Given the description of an element on the screen output the (x, y) to click on. 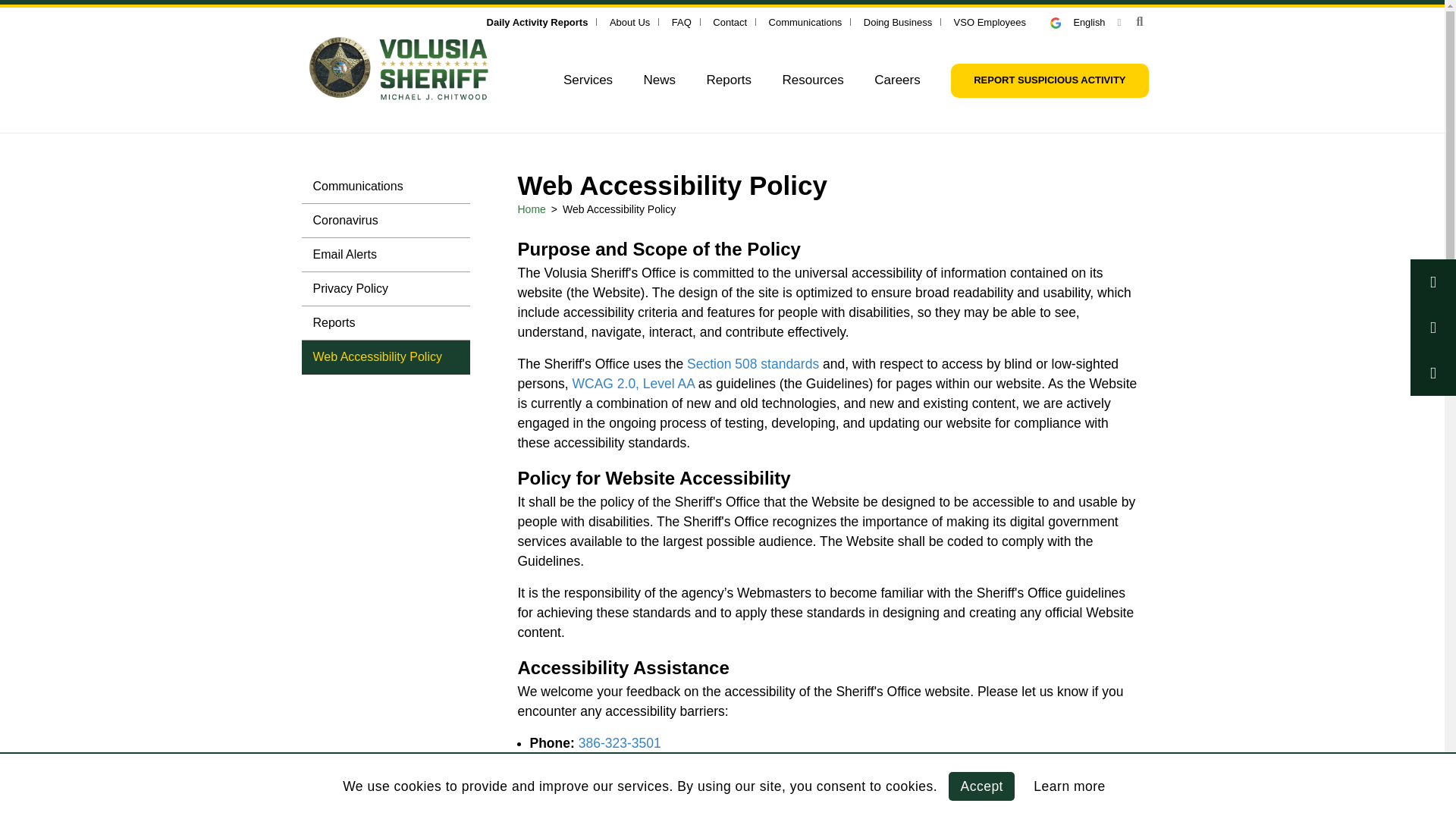
VSO Employees (989, 21)
English (1085, 21)
Translate (1085, 21)
Contact (729, 21)
Doing Business (897, 21)
Translate (1061, 22)
Communications (805, 21)
FAQ (681, 21)
About Us (629, 21)
Daily Activity Reports (537, 21)
